Given the description of an element on the screen output the (x, y) to click on. 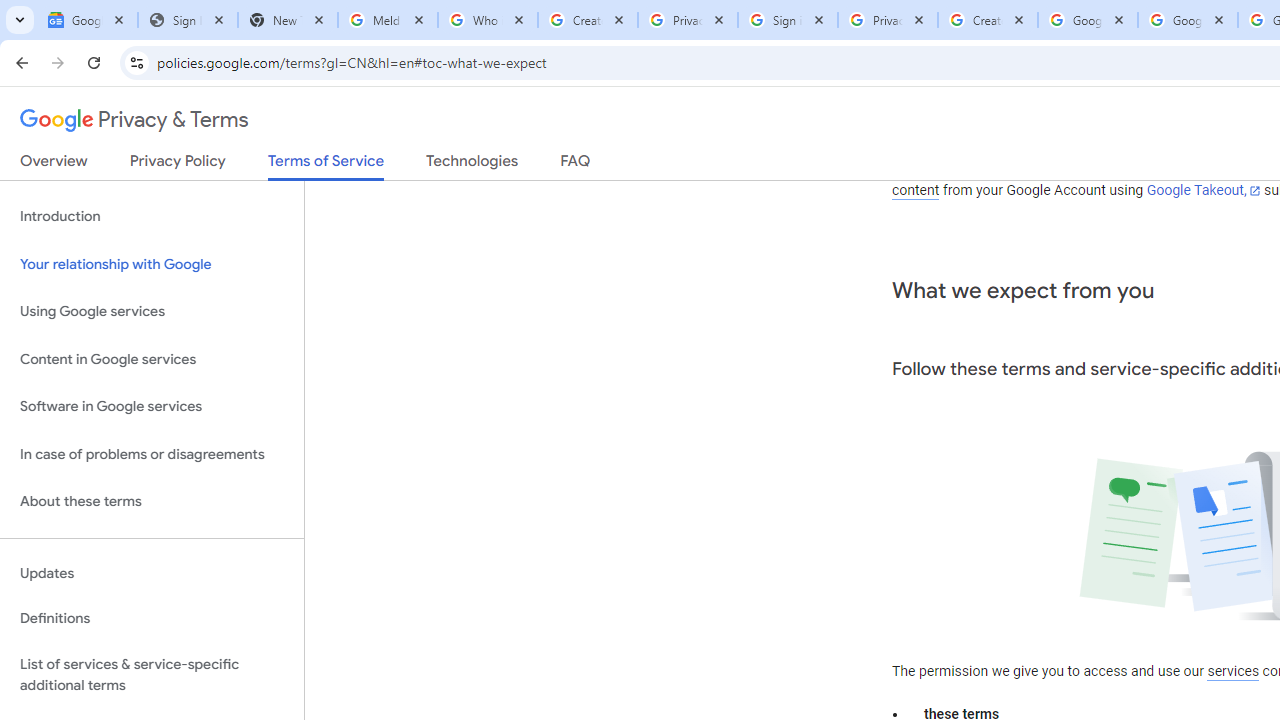
Using Google services (152, 312)
List of services & service-specific additional terms (152, 674)
Content in Google services (152, 358)
In case of problems or disagreements (152, 453)
Definitions (152, 619)
Privacy & Terms (134, 120)
Software in Google services (152, 407)
